Given the description of an element on the screen output the (x, y) to click on. 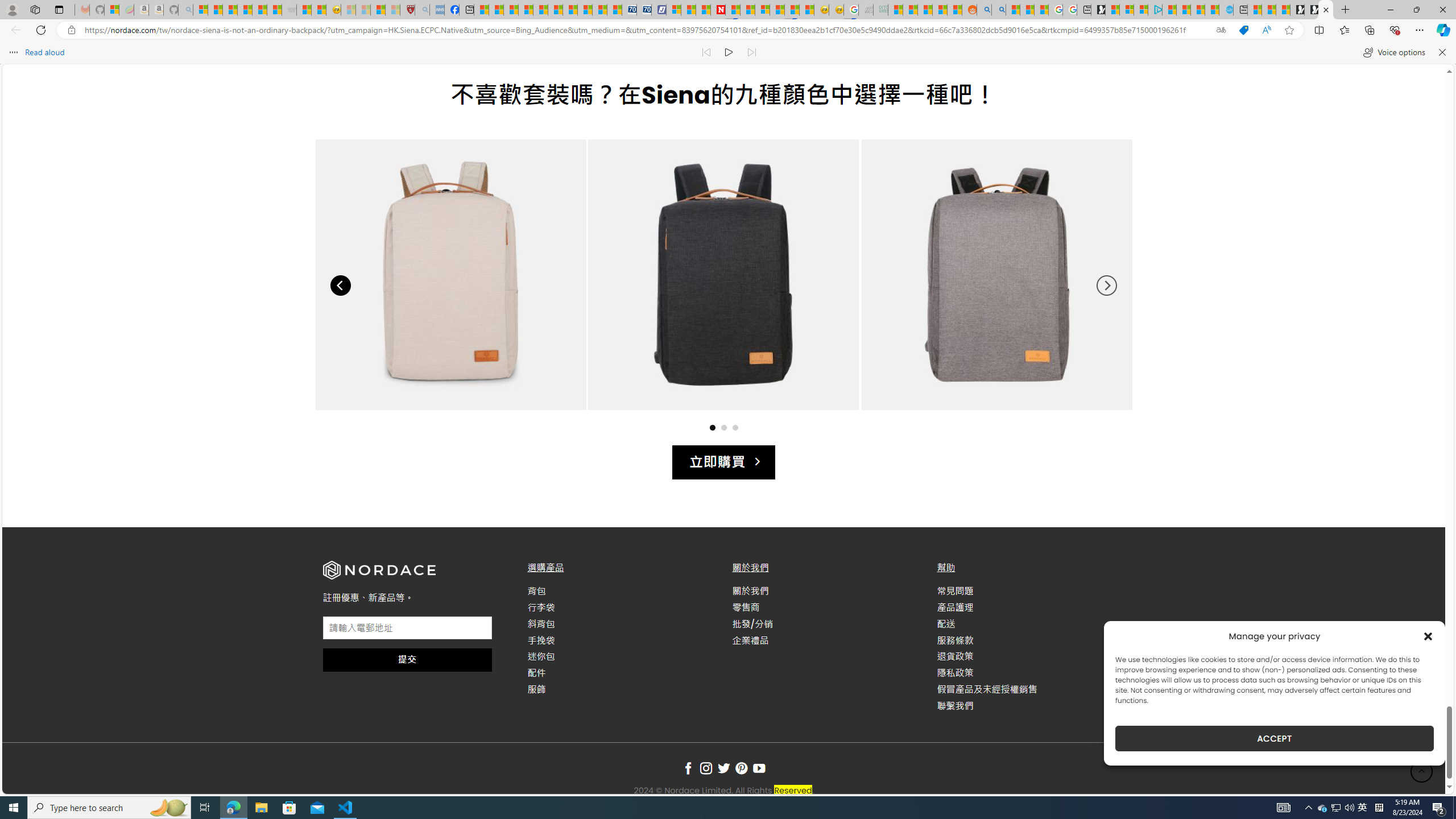
Utah sues federal government - Search (998, 9)
Cheap Hotels - Save70.com (643, 9)
Trusted Community Engagement and Contributions | Guidelines (732, 9)
Cheap Car Rentals - Save70.com (629, 9)
Tab actions menu (58, 9)
Workspaces (34, 9)
